Given the description of an element on the screen output the (x, y) to click on. 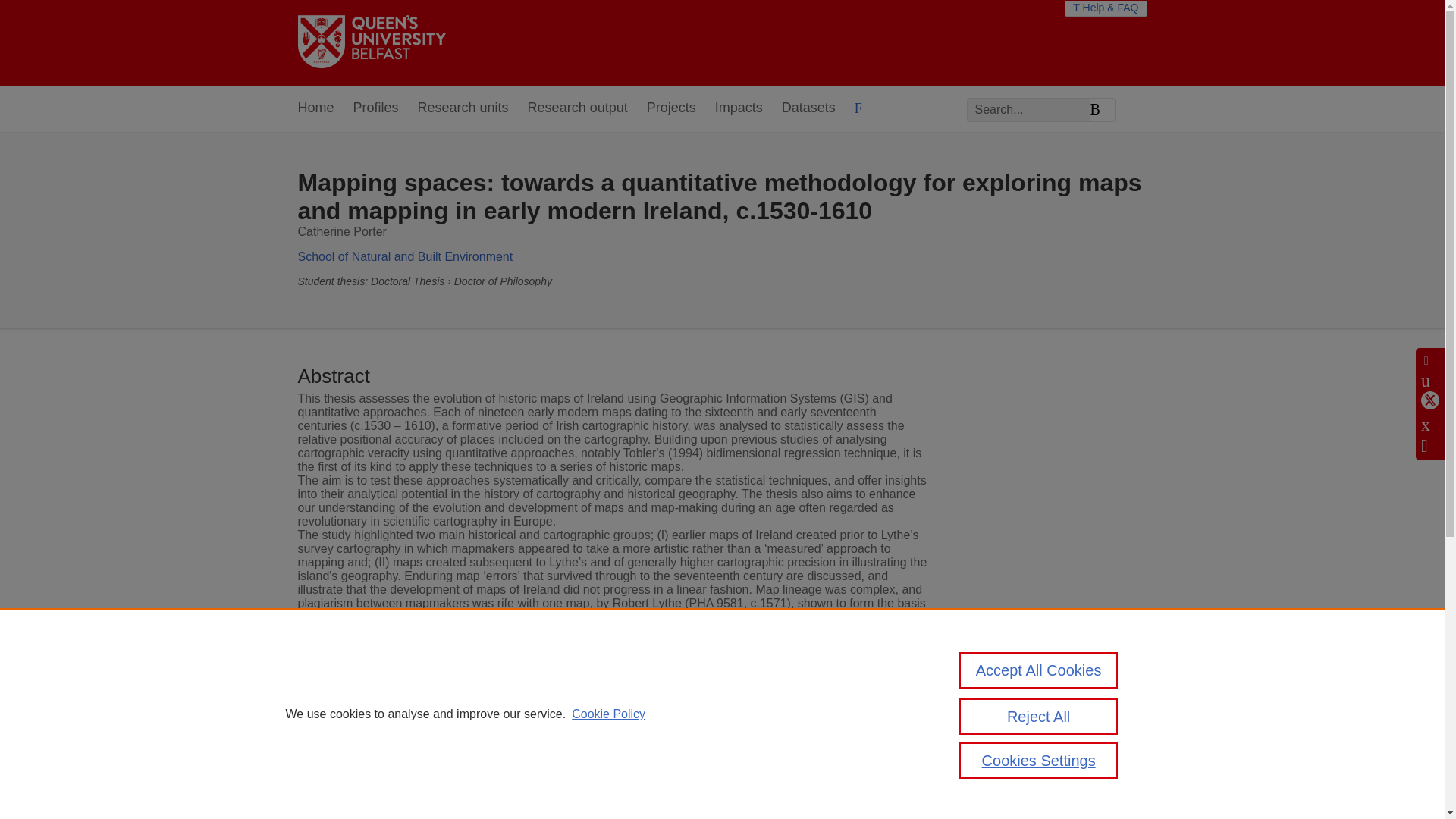
Research units (462, 108)
School of Natural and Built Environment (404, 256)
Impacts (738, 108)
Datasets (808, 108)
Research output (577, 108)
Cookie Policy (608, 713)
Paul S Ell (672, 745)
Profiles (375, 108)
Keith Lilley (541, 745)
Queen's University Belfast Home (371, 43)
